Given the description of an element on the screen output the (x, y) to click on. 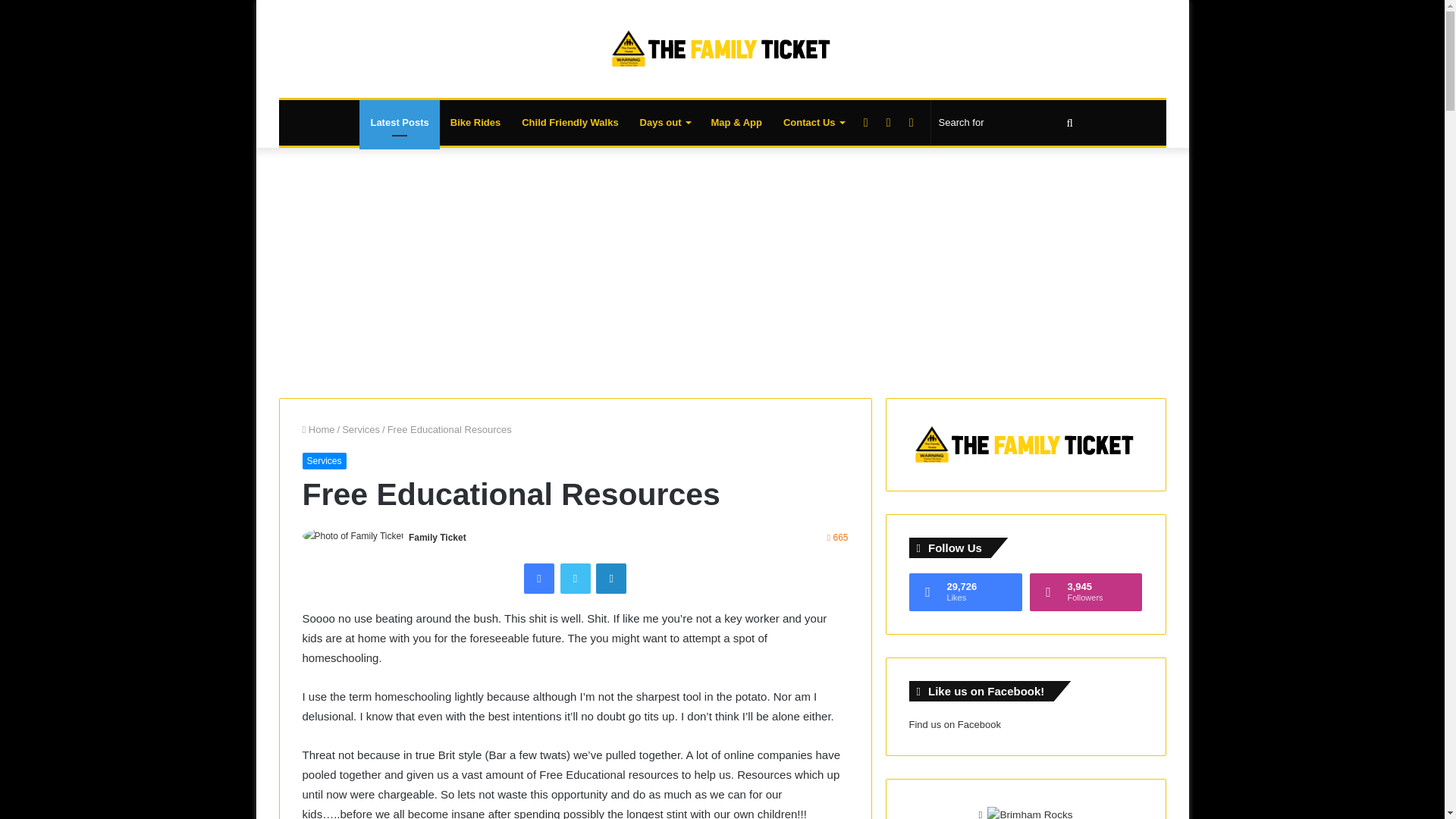
Family Ticket (437, 537)
Home (317, 429)
LinkedIn (610, 578)
Facebook (539, 578)
Family Ticket (437, 537)
Services (323, 460)
Search for (1007, 122)
Contact Us (813, 122)
Days out (664, 122)
Child Friendly Walks (569, 122)
Twitter (574, 578)
LinkedIn (610, 578)
Services (361, 429)
Latest Posts (399, 122)
Twitter (574, 578)
